Given the description of an element on the screen output the (x, y) to click on. 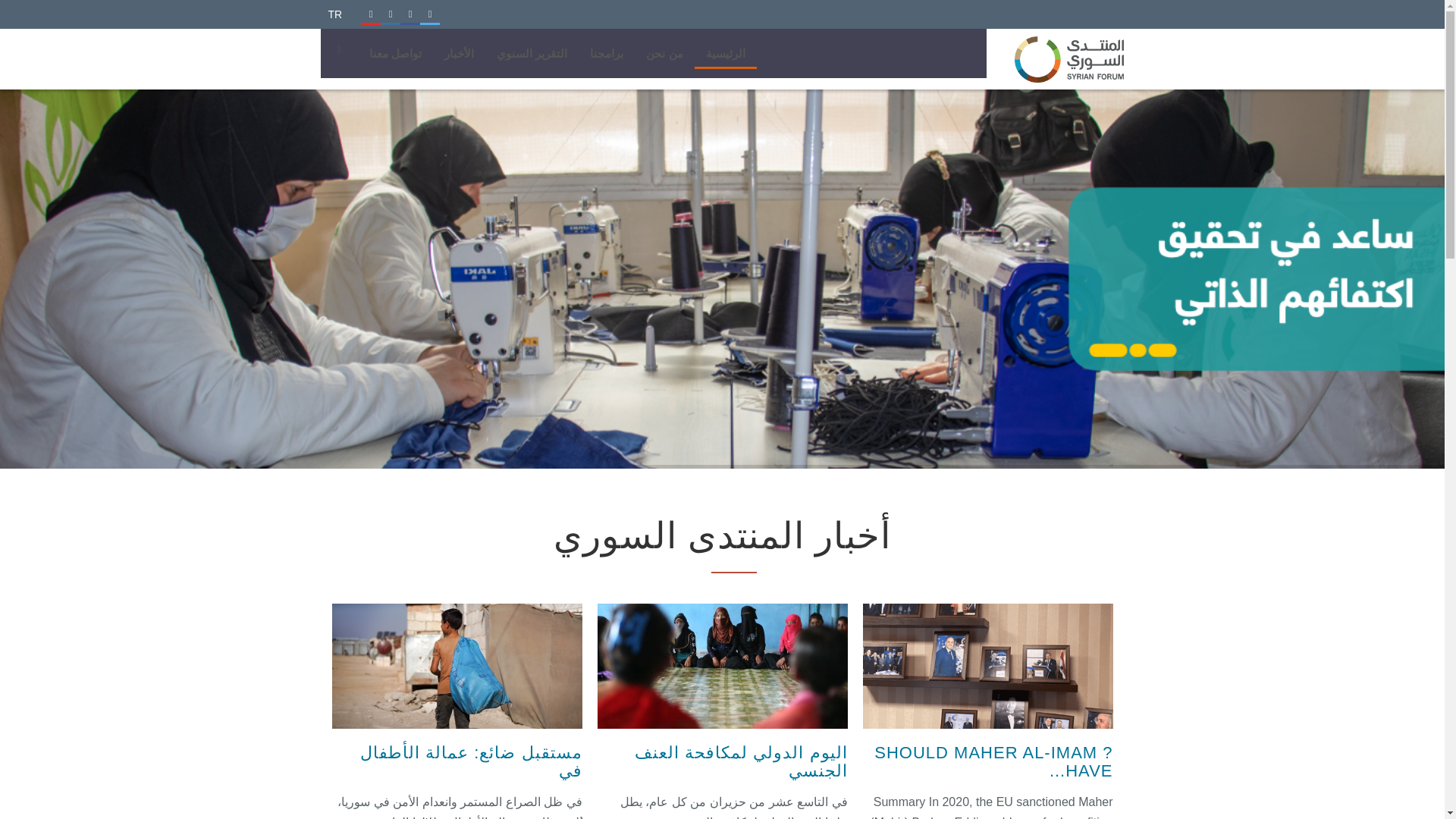
TR (334, 14)
? SHOULD MAHER AL-IMAM HAVE... (993, 761)
